Given the description of an element on the screen output the (x, y) to click on. 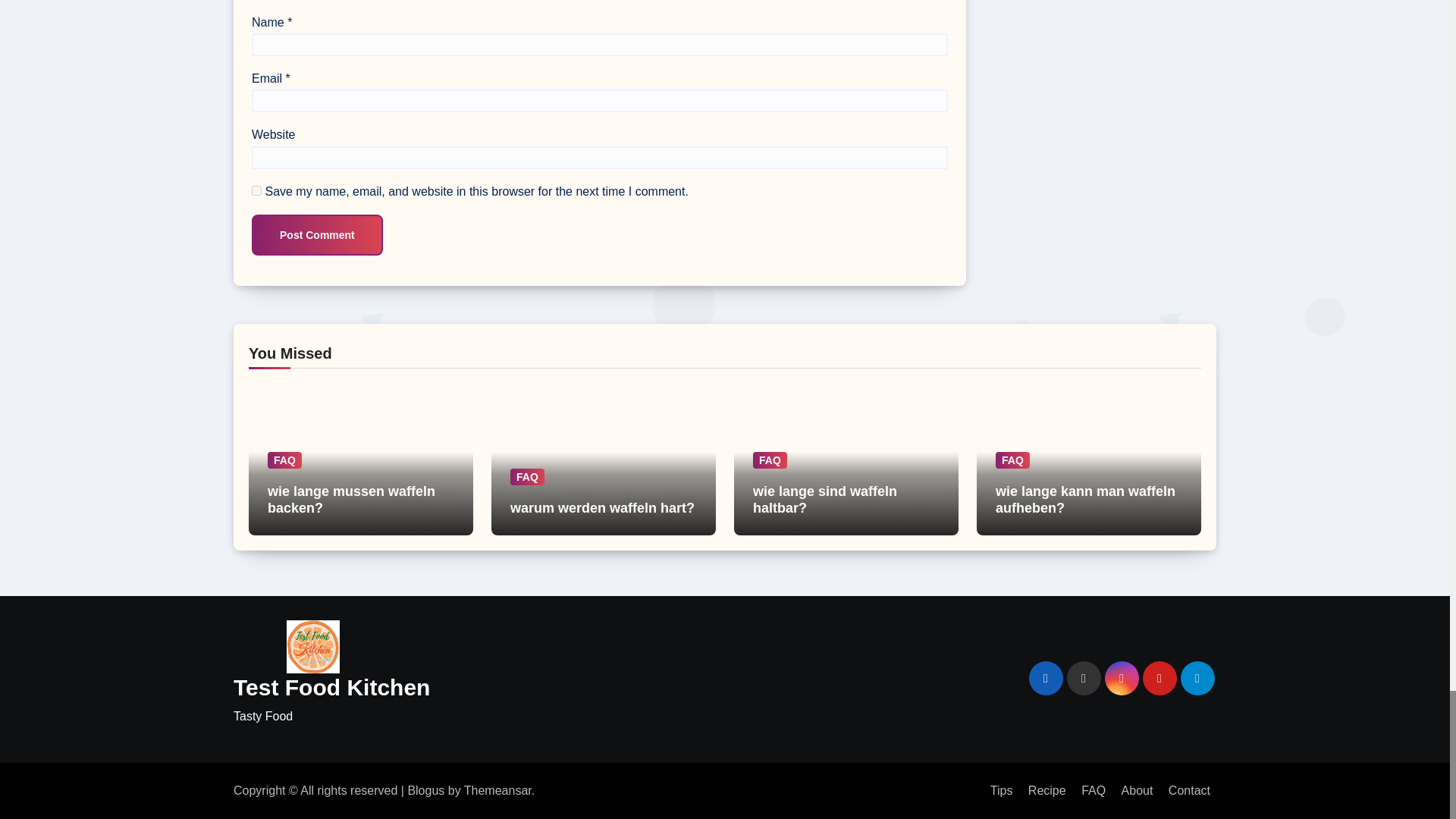
Permalink to: warum werden waffeln hart? (602, 507)
yes (256, 190)
Post Comment (316, 234)
Permalink to: wie lange mussen waffeln backen? (351, 499)
Permalink to: wie lange sind waffeln haltbar? (824, 499)
